Given the description of an element on the screen output the (x, y) to click on. 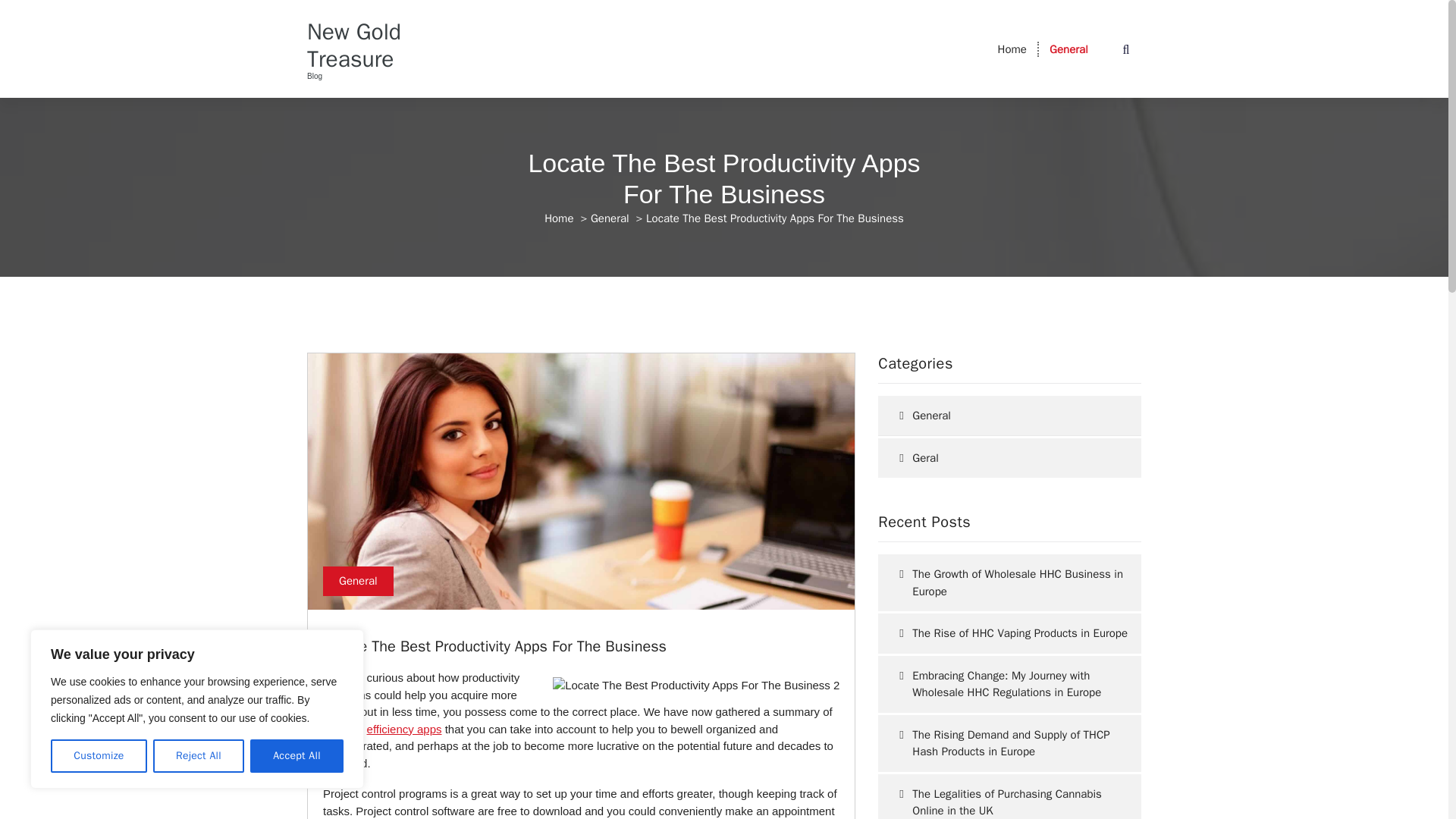
Home (1012, 49)
New Gold Treasure (366, 45)
Reject All (198, 756)
General (1068, 49)
General (358, 581)
Home (558, 218)
efficiency apps (404, 728)
General (1068, 49)
General (609, 218)
Customize (98, 756)
